Given the description of an element on the screen output the (x, y) to click on. 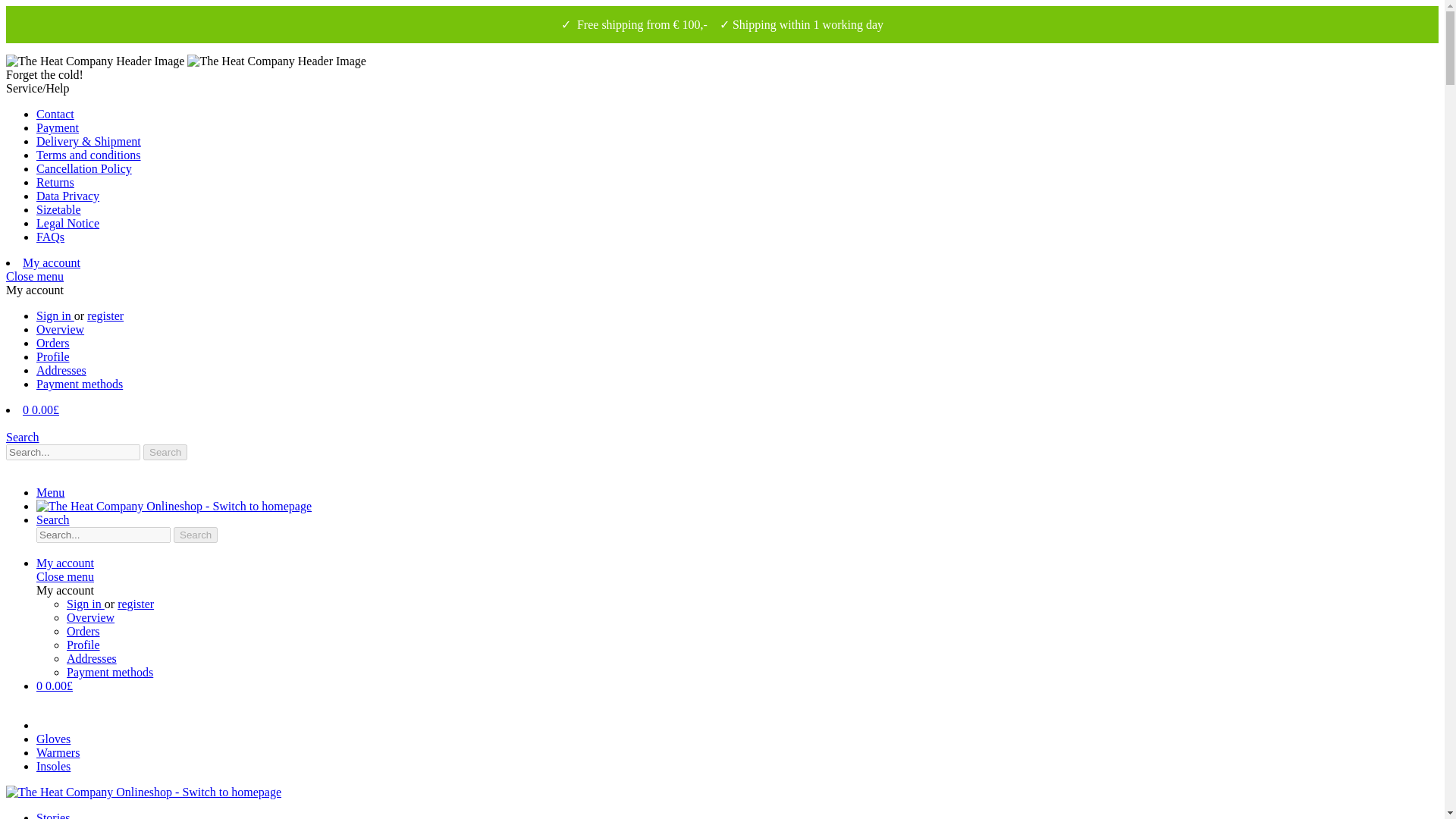
Search (194, 534)
Menu (50, 492)
Warmers (58, 752)
Sign in (55, 315)
Payment methods (109, 671)
FAQs (50, 236)
The Heat Company Onlineshop - Switch to homepage (173, 505)
Cancellation Policy (84, 168)
Payment (57, 127)
Search (164, 452)
Orders (52, 342)
register (135, 603)
Data Privacy (67, 195)
Search (22, 436)
Insoles (52, 766)
